Given the description of an element on the screen output the (x, y) to click on. 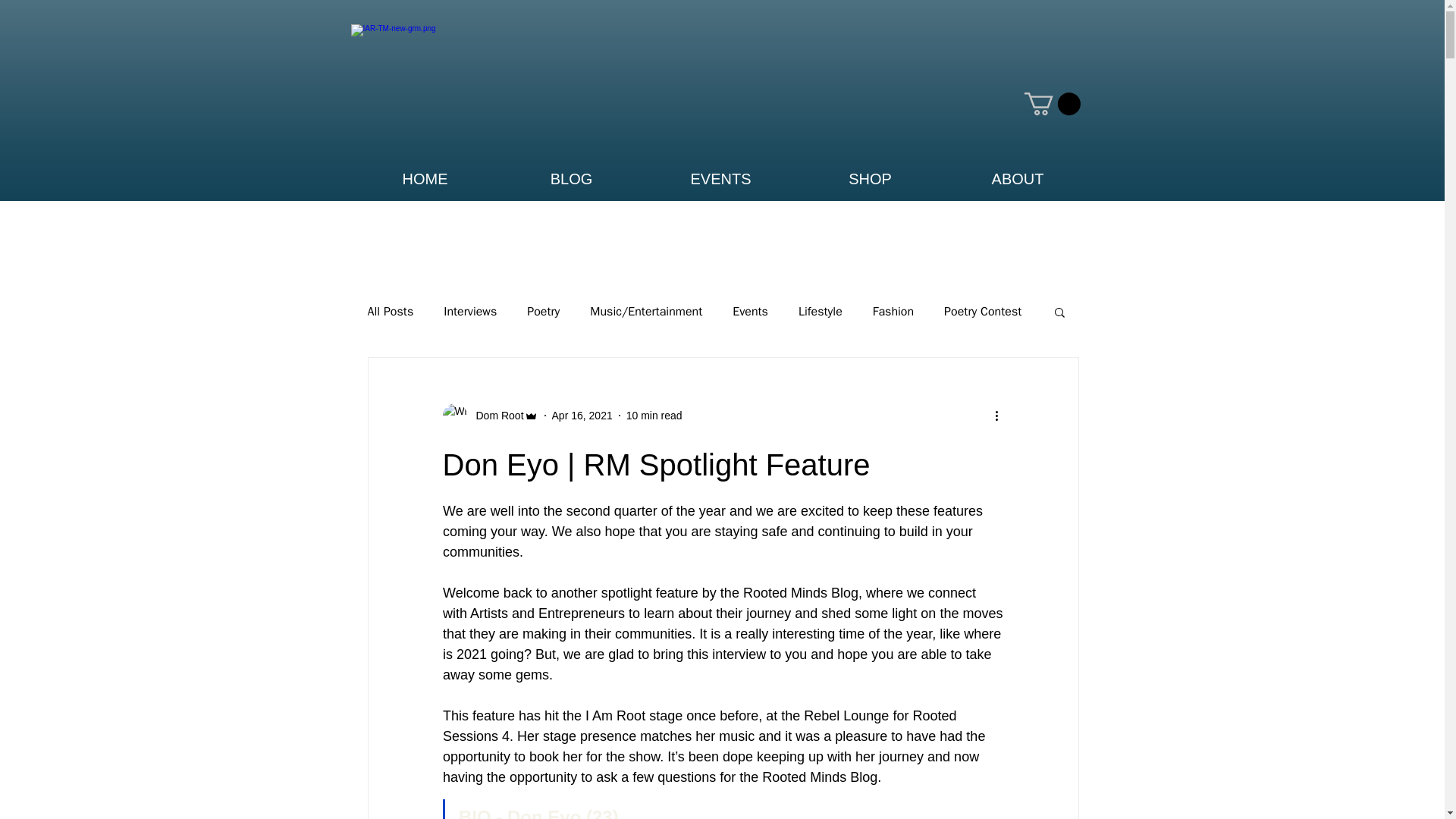
Apr 16, 2021 (581, 415)
Fashion (893, 311)
Poetry (543, 311)
Dom Root (495, 415)
SHOP (869, 177)
EVENTS (720, 177)
All Posts (389, 311)
10 min read (654, 415)
Poetry Contest (982, 311)
Lifestyle (820, 311)
